Given the description of an element on the screen output the (x, y) to click on. 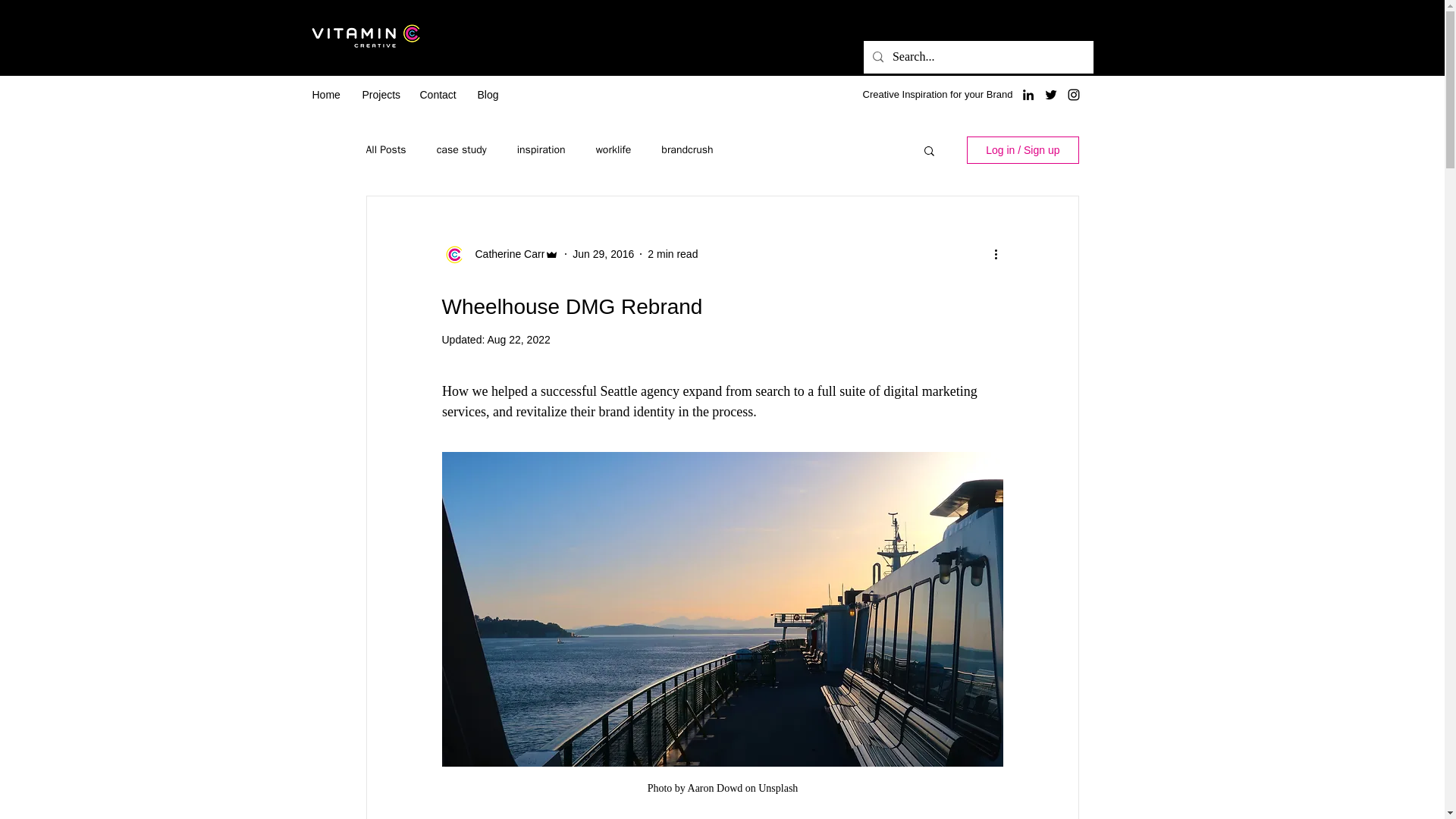
Projects (378, 94)
Aug 22, 2022 (518, 339)
Jun 29, 2016 (602, 253)
2 min read (672, 253)
All Posts (385, 150)
Contact (436, 94)
Home (324, 94)
brandcrush (687, 150)
Catherine Carr (504, 253)
case study (461, 150)
Blog (485, 94)
inspiration (541, 150)
worklife (613, 150)
